Given the description of an element on the screen output the (x, y) to click on. 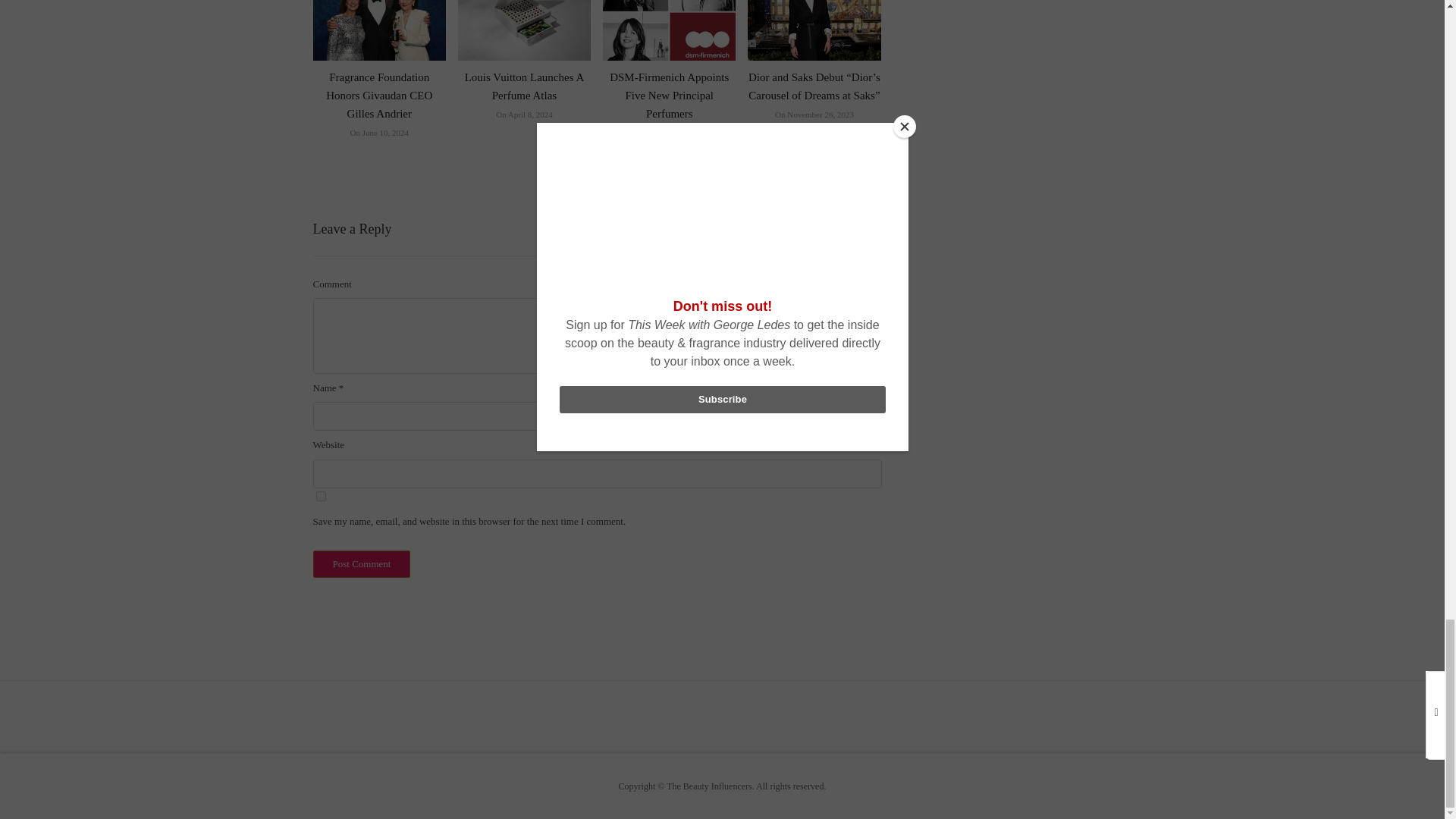
Post Comment (361, 564)
yes (319, 496)
